Given the description of an element on the screen output the (x, y) to click on. 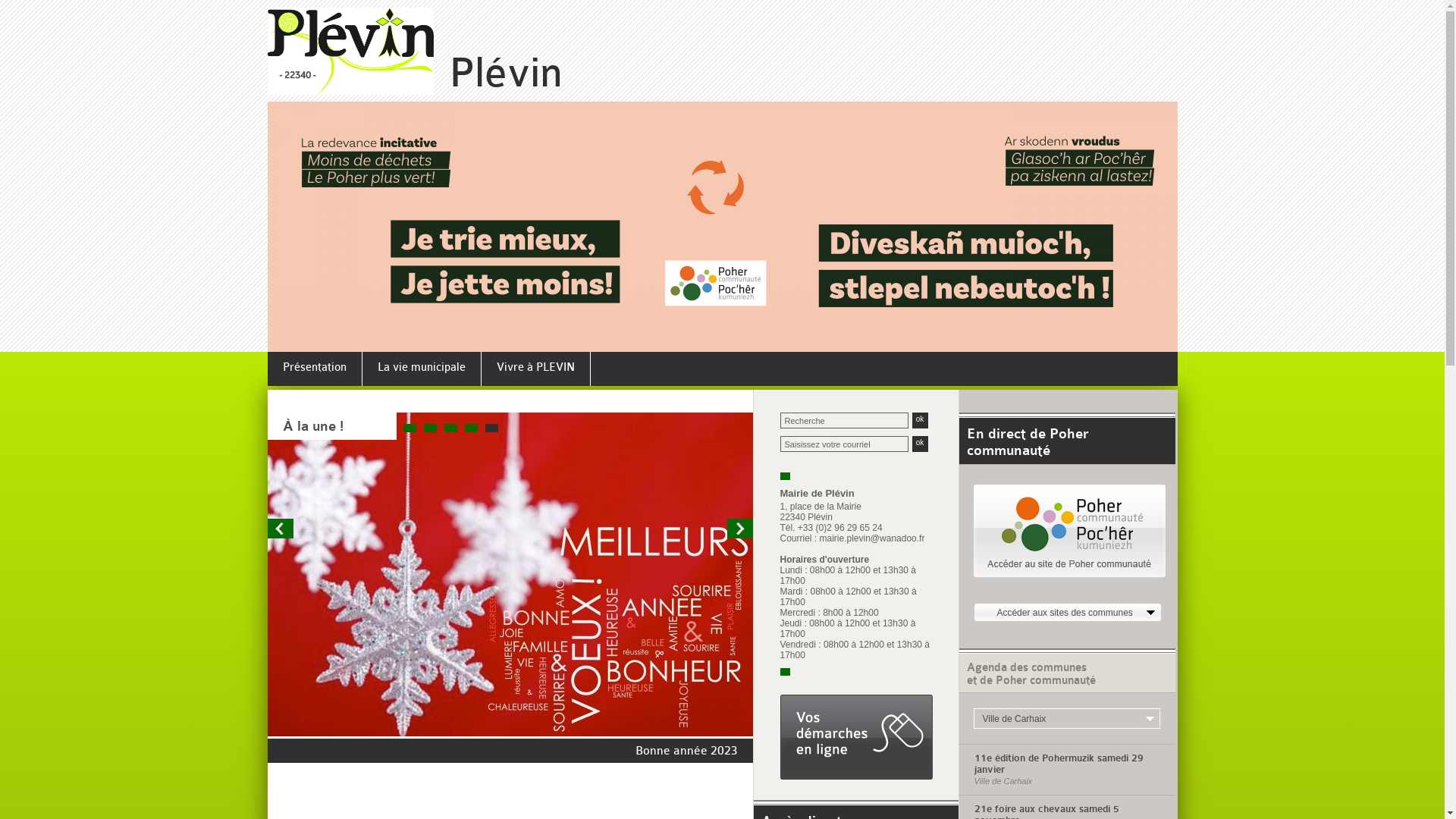
Recherche Element type: hover (843, 420)
prev Element type: text (279, 528)
Recherche Element type: text (843, 420)
Ville de Carhaix Element type: text (1066, 718)
2 Element type: text (429, 427)
Saisissez votre courriel Element type: text (843, 443)
Ville de Carhaix Element type: text (1066, 780)
La vie municipale Element type: text (421, 370)
Recensement de la population 2023 Element type: text (639, 681)
3 Element type: text (450, 427)
4 Element type: text (470, 427)
Saisie Element type: hover (843, 443)
1 Element type: text (409, 427)
ok Element type: text (919, 420)
next Element type: text (739, 528)
ok Element type: text (919, 443)
5 Element type: text (491, 427)
